Given the description of an element on the screen output the (x, y) to click on. 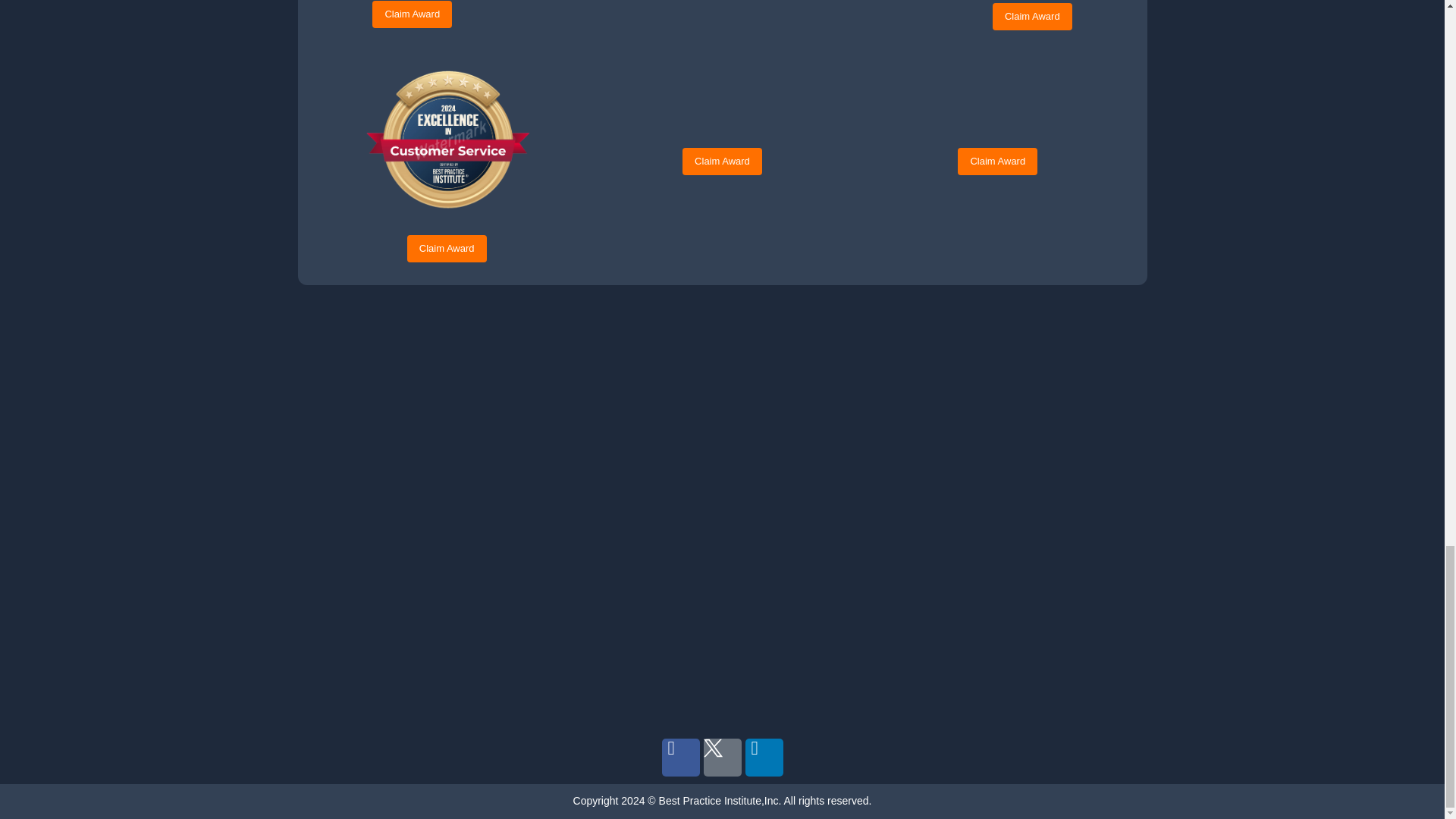
Claim Award (411, 13)
Claim Award (1031, 16)
